Given the description of an element on the screen output the (x, y) to click on. 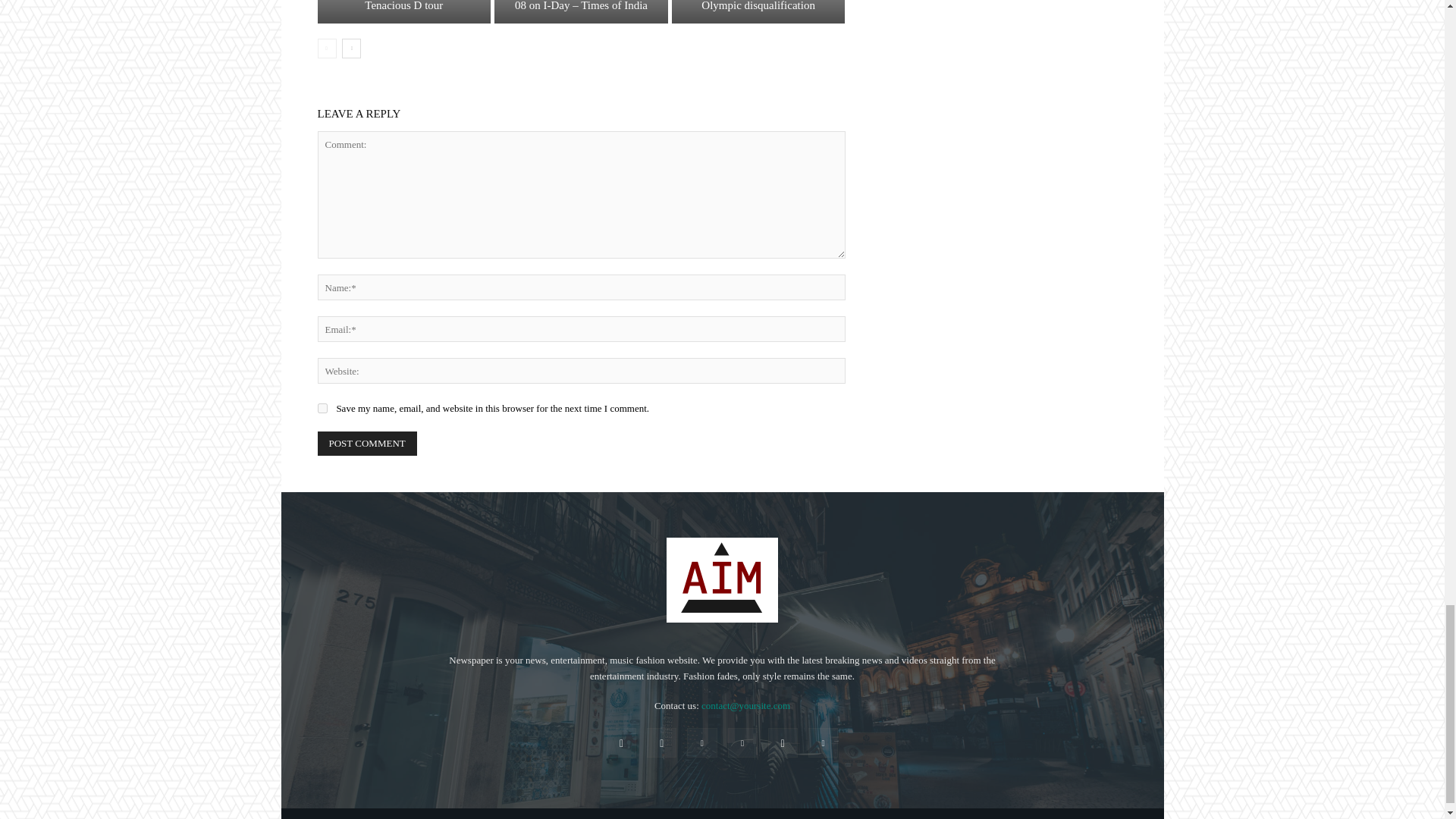
Post Comment (366, 443)
yes (321, 408)
